Given the description of an element on the screen output the (x, y) to click on. 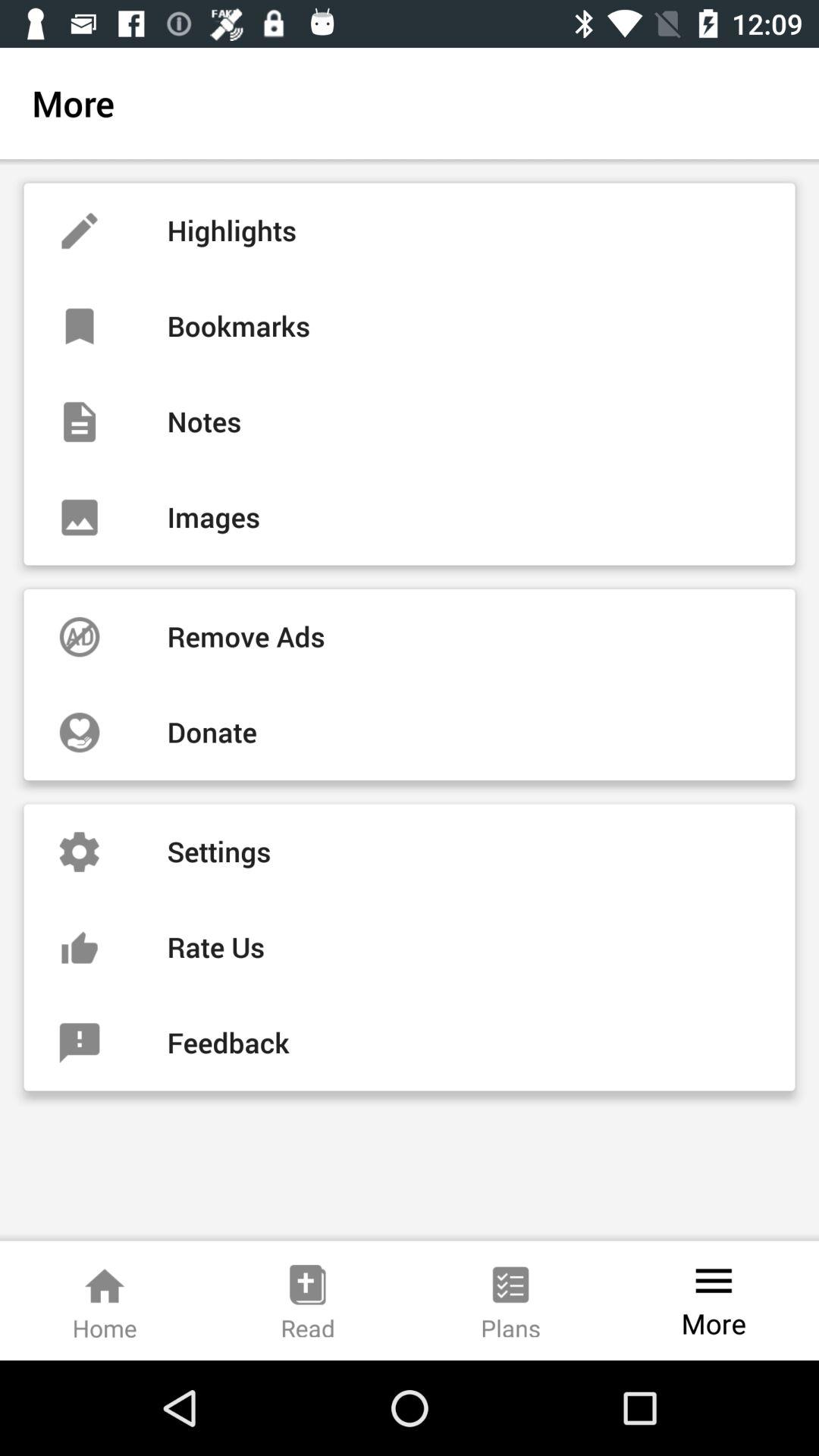
turn off the item below the settings icon (409, 947)
